Given the description of an element on the screen output the (x, y) to click on. 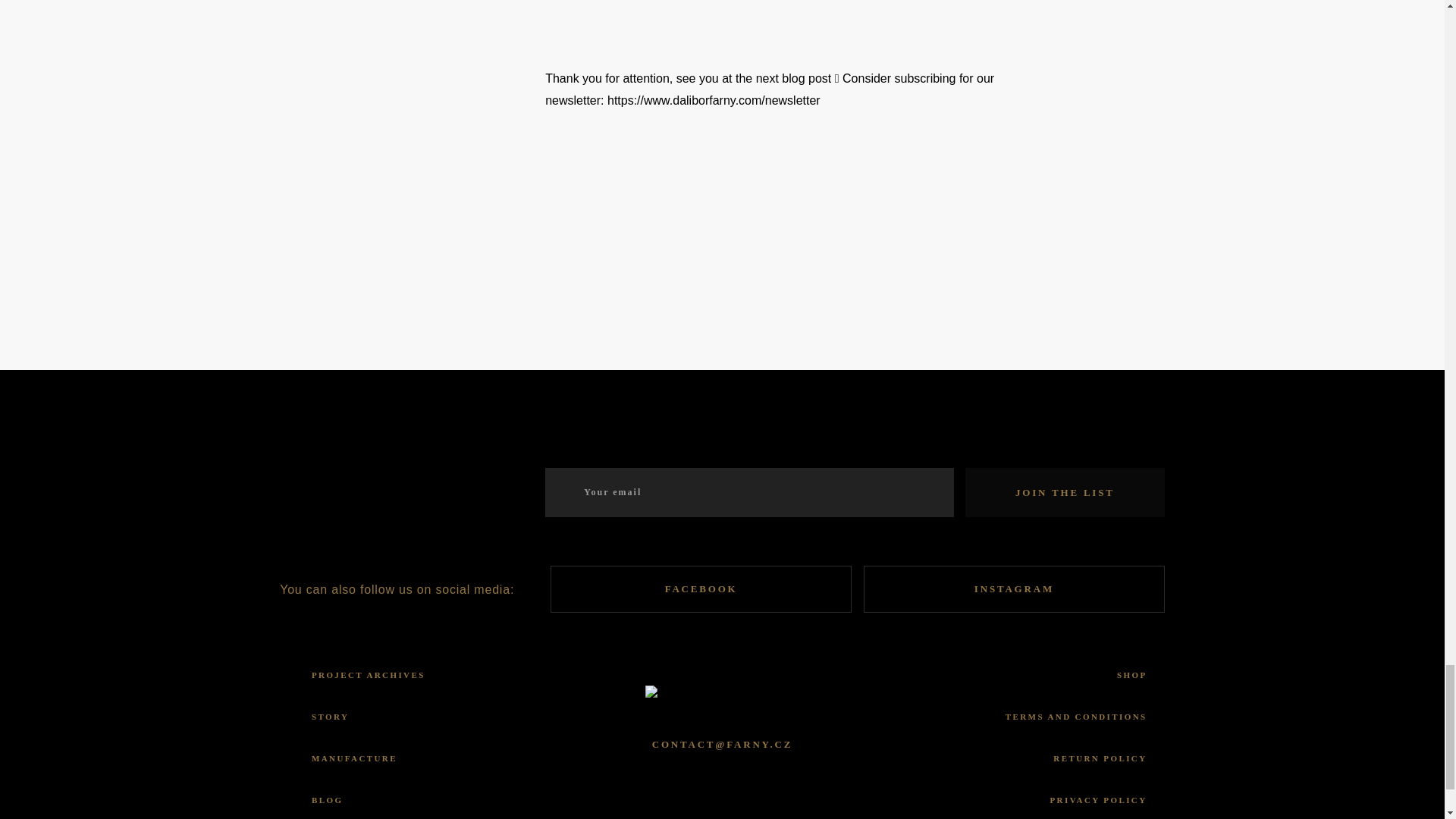
PROJECT ARCHIVES (368, 674)
STORY (330, 716)
FACEBOOK (700, 588)
INSTAGRAM (1013, 588)
MANUFACTURE (354, 758)
Email (748, 491)
BLOG (326, 800)
SHOP (1131, 674)
Join the list (1064, 491)
JOIN THE LIST (1064, 491)
